Given the description of an element on the screen output the (x, y) to click on. 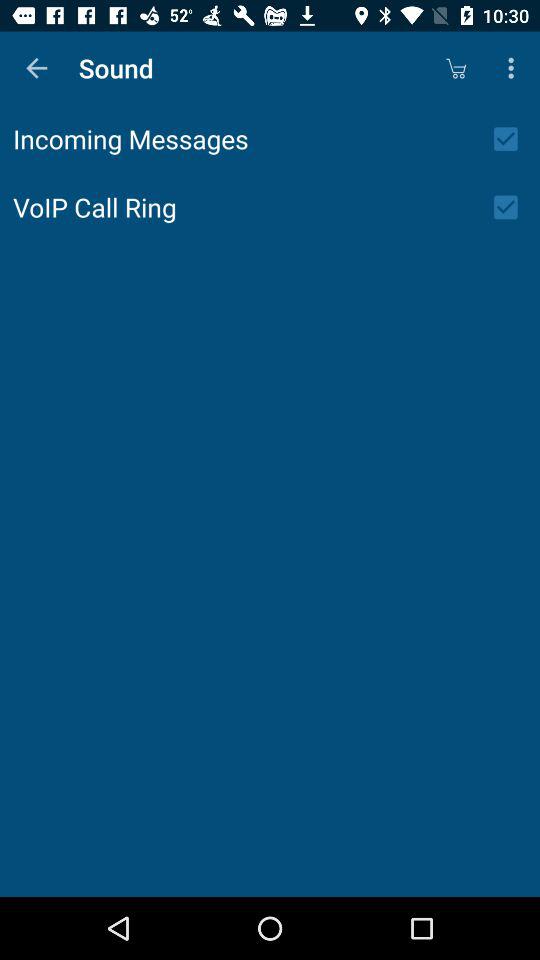
select the app next to sound app (455, 67)
